Given the description of an element on the screen output the (x, y) to click on. 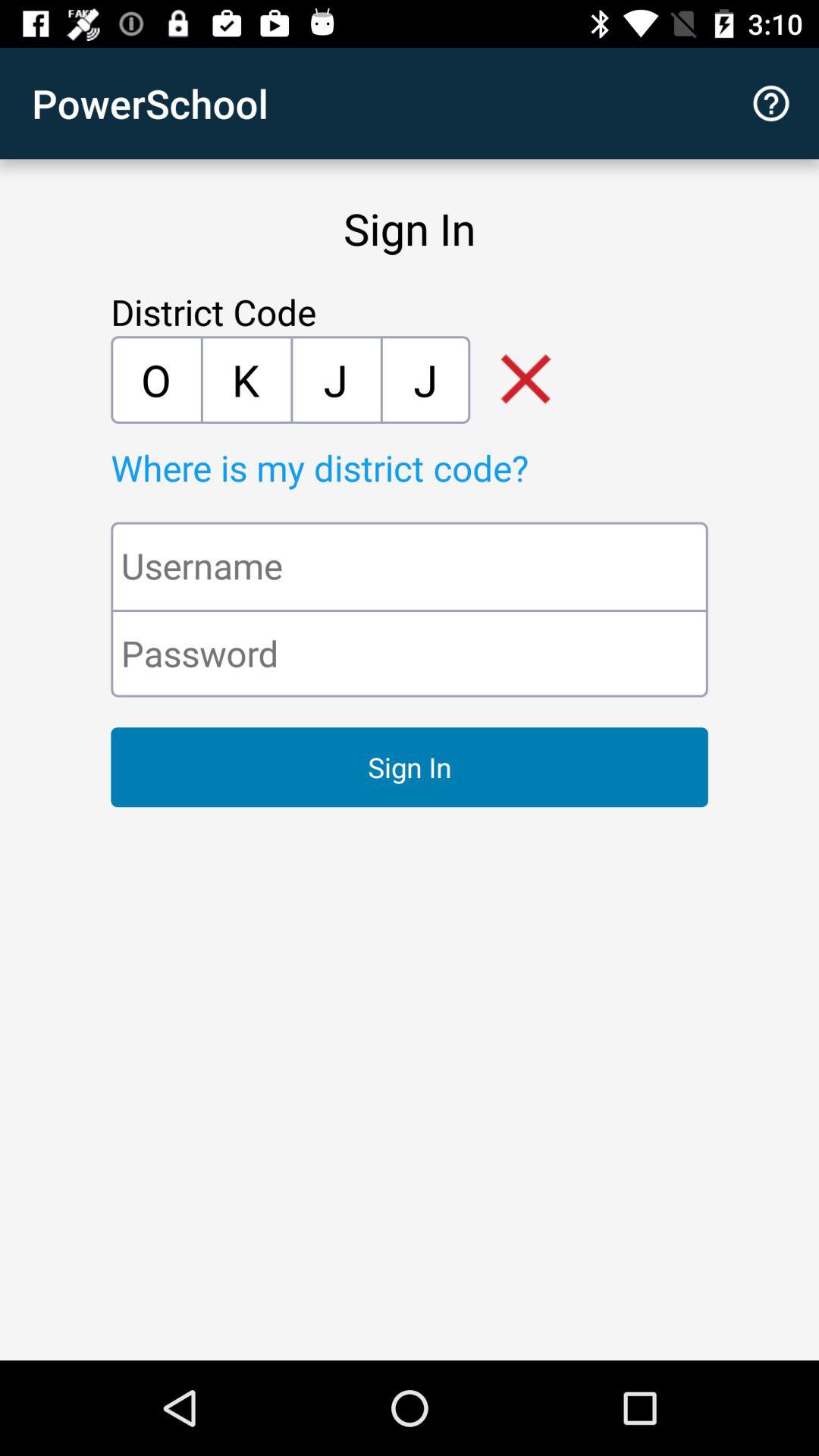
enter username (409, 565)
